Given the description of an element on the screen output the (x, y) to click on. 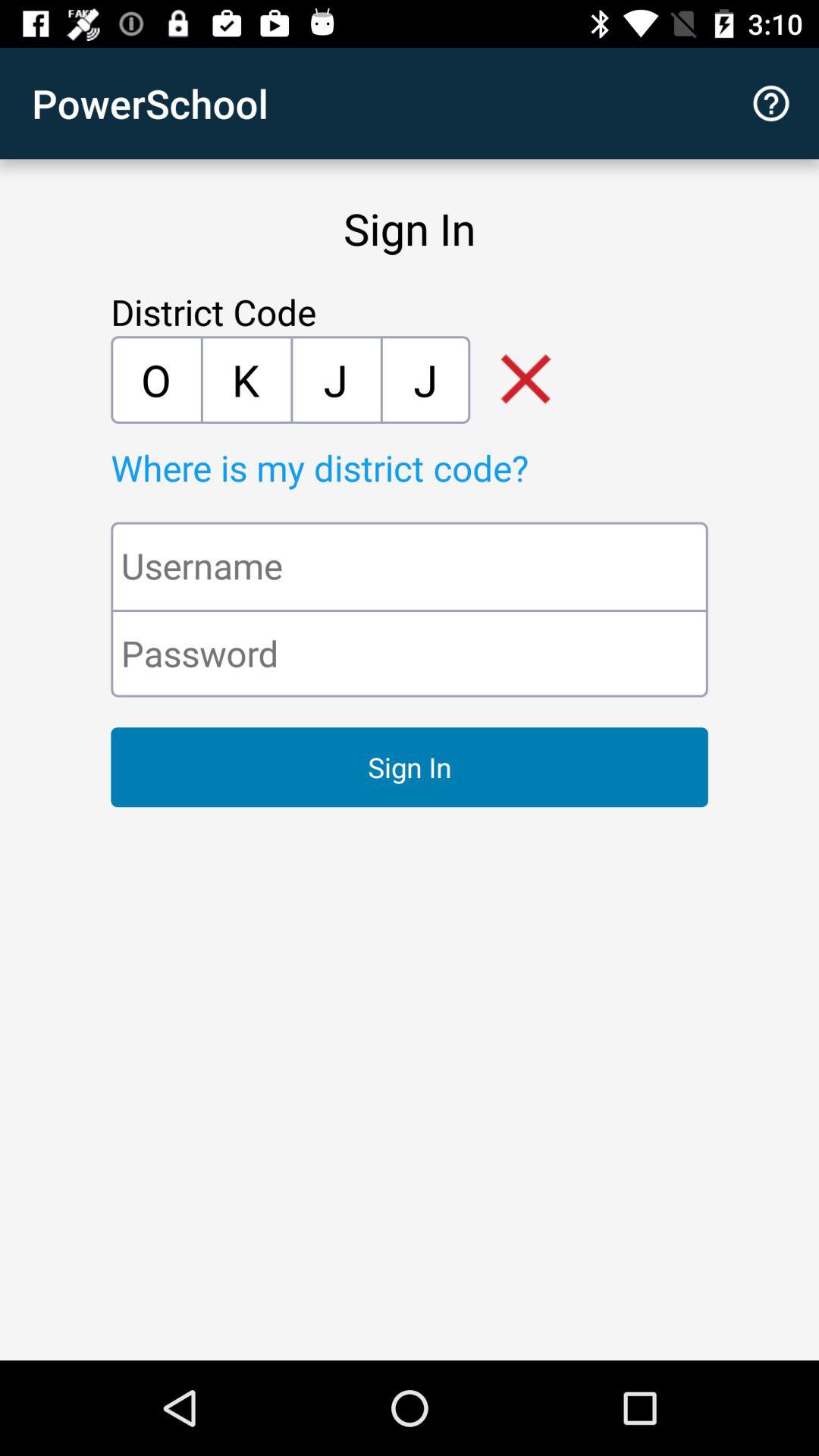
enter username (409, 565)
